Given the description of an element on the screen output the (x, y) to click on. 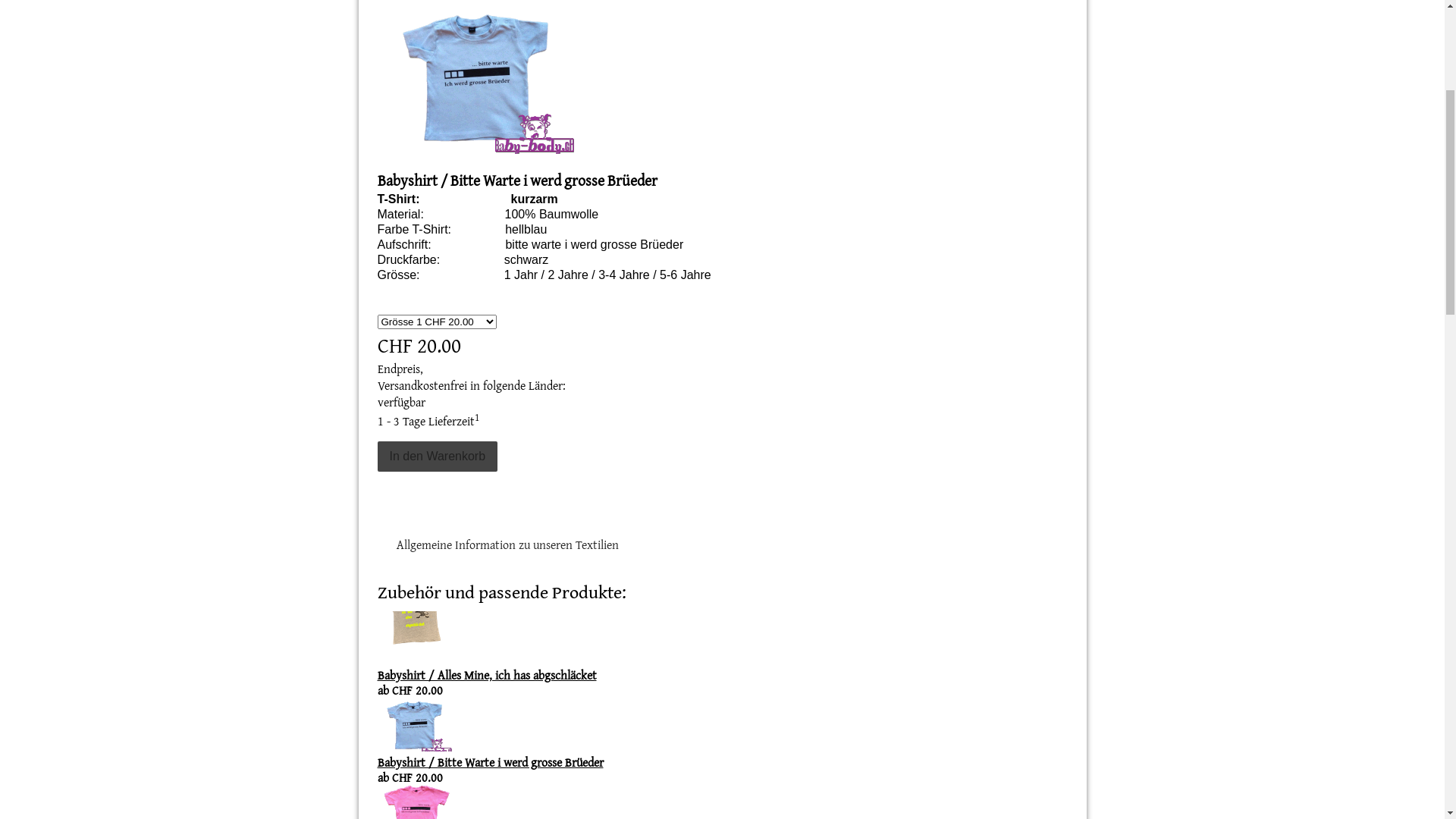
Mehr anzeigen Weniger anzeigen Element type: text (633, 675)
HIER FINDEST DU UNS: Element type: text (1024, 92)
zzgl. Versandkosten Element type: text (464, 658)
In den Warenkorb Element type: text (437, 745)
ERWACHSENE Element type: text (889, 92)
BABY Element type: text (789, 92)
Baby-Bodys und mehr... Element type: text (471, 67)
FIRMA Element type: text (944, 92)
NEWS Element type: text (753, 92)
KINDER Element type: text (831, 92)
